Given the description of an element on the screen output the (x, y) to click on. 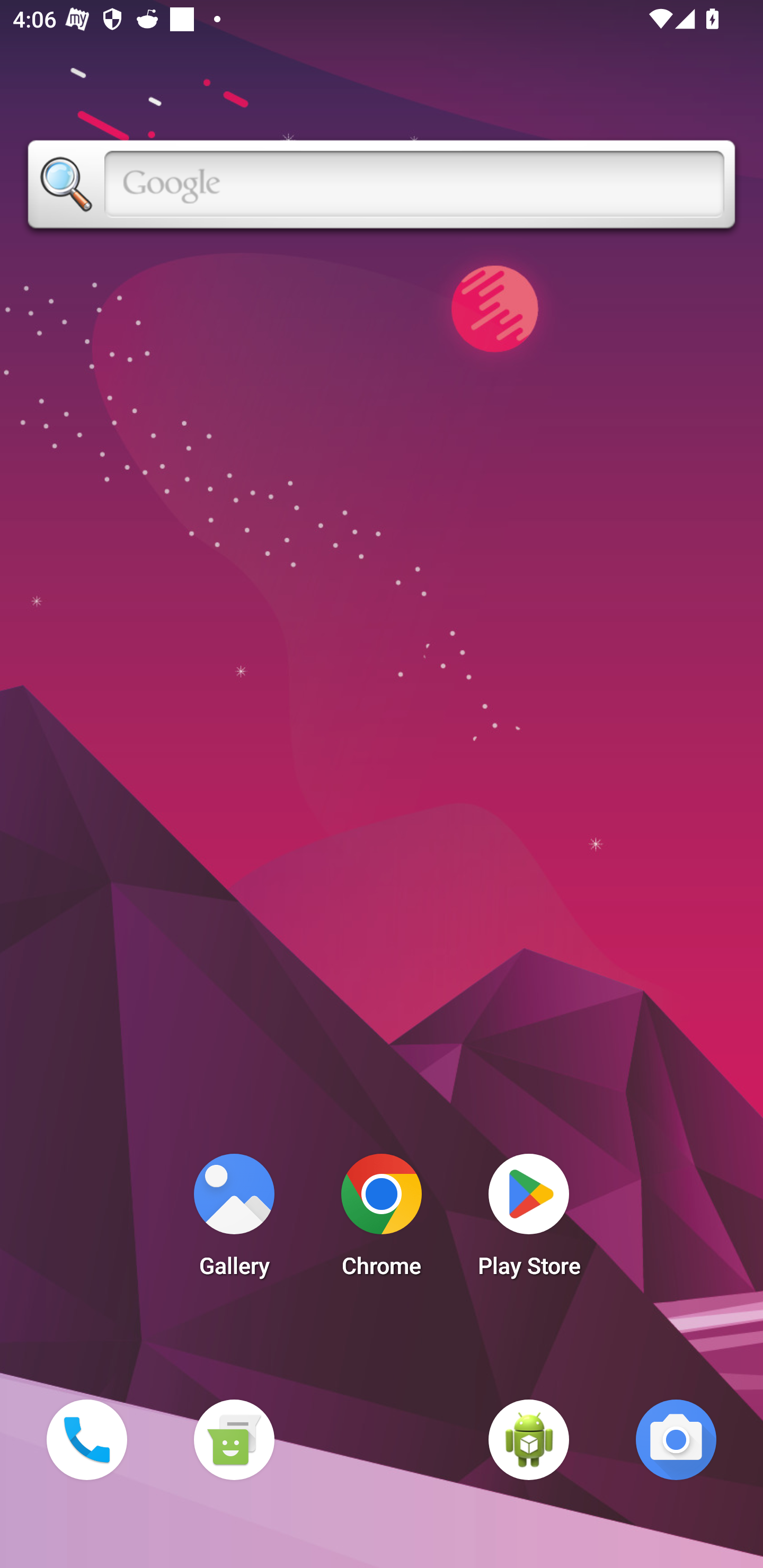
Gallery (233, 1220)
Chrome (381, 1220)
Play Store (528, 1220)
Phone (86, 1439)
Messaging (233, 1439)
WebView Browser Tester (528, 1439)
Camera (676, 1439)
